Given the description of an element on the screen output the (x, y) to click on. 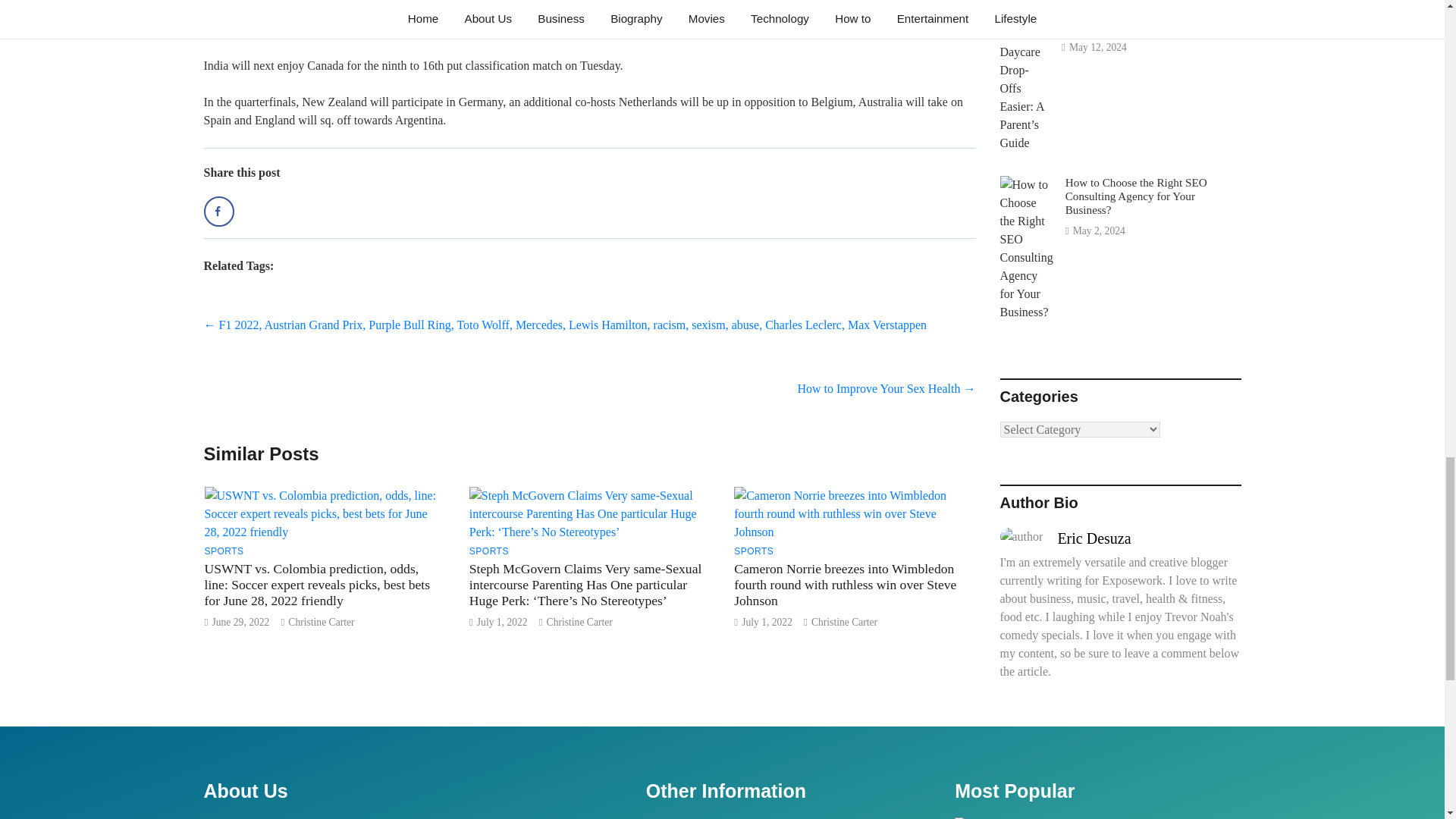
July 1, 2022 (502, 622)
Christine Carter (320, 622)
SPORTS (488, 550)
SPORTS (224, 550)
SPORTS (753, 550)
June 29, 2022 (240, 622)
Share on Facebook (217, 211)
